Given the description of an element on the screen output the (x, y) to click on. 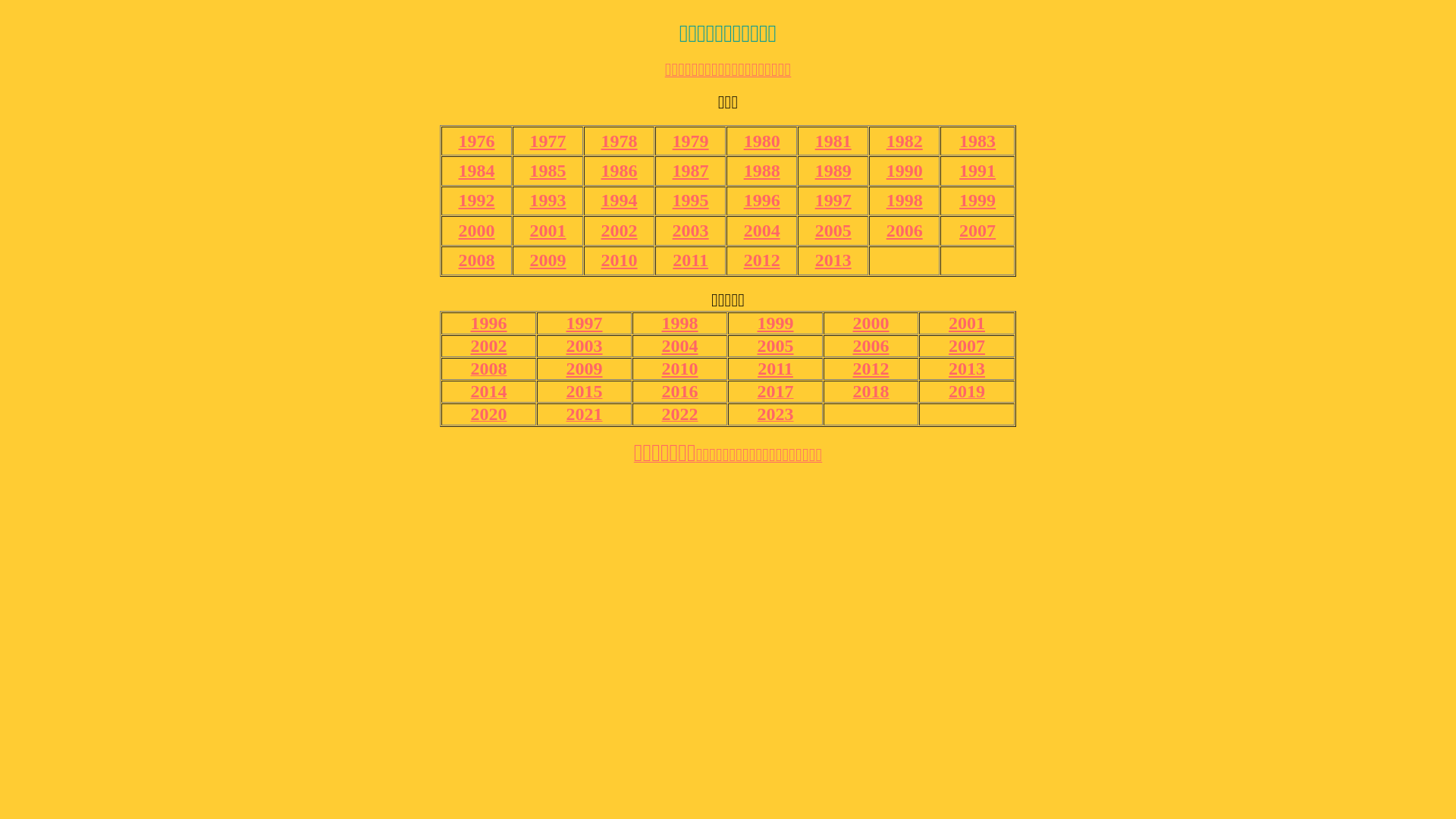
2009 Element type: text (548, 259)
2005 Element type: text (774, 345)
2008 Element type: text (488, 370)
1983 Element type: text (977, 140)
2000 Element type: text (476, 230)
1986 Element type: text (619, 170)
1999 Element type: text (774, 322)
1997 Element type: text (583, 322)
1979 Element type: text (690, 140)
1989 Element type: text (833, 170)
2017 Element type: text (774, 392)
2021 Element type: text (583, 415)
1976 Element type: text (476, 140)
2011 Element type: text (690, 259)
2019 Element type: text (966, 392)
2002 Element type: text (488, 345)
1982 Element type: text (904, 140)
2006 Element type: text (904, 230)
2013 Element type: text (833, 259)
2013 Element type: text (966, 368)
2018 Element type: text (870, 392)
2011 Element type: text (775, 368)
2007 Element type: text (966, 345)
2016 Element type: text (679, 392)
1981 Element type: text (833, 140)
2020 Element type: text (488, 415)
2005 Element type: text (833, 230)
2006 Element type: text (870, 345)
2003 Element type: text (583, 345)
1987 Element type: text (690, 170)
2012 Element type: text (761, 259)
2014 Element type: text (488, 392)
2003 Element type: text (690, 230)
2001 Element type: text (966, 322)
1988 Element type: text (761, 170)
1978 Element type: text (619, 140)
1992 Element type: text (476, 200)
1980 Element type: text (761, 140)
2010 Element type: text (619, 259)
1977 Element type: text (548, 140)
2004 Element type: text (761, 230)
2023 Element type: text (774, 415)
2004 Element type: text (679, 345)
1993 Element type: text (548, 200)
2010 Element type: text (679, 368)
2002 Element type: text (619, 230)
1997 Element type: text (833, 200)
2000 Element type: text (870, 322)
1984 Element type: text (476, 170)
1998 Element type: text (904, 200)
2008 Element type: text (476, 259)
1999 Element type: text (977, 200)
1995 Element type: text (690, 200)
1996 Element type: text (761, 200)
2009 Element type: text (583, 368)
1990 Element type: text (904, 170)
2012 Element type: text (870, 368)
2007 Element type: text (977, 230)
1998 Element type: text (679, 322)
1994 Element type: text (619, 200)
1991 Element type: text (977, 170)
1985 Element type: text (548, 170)
2001 Element type: text (548, 230)
2022 Element type: text (679, 415)
2015 Element type: text (583, 392)
1996 Element type: text (488, 322)
